Given the description of an element on the screen output the (x, y) to click on. 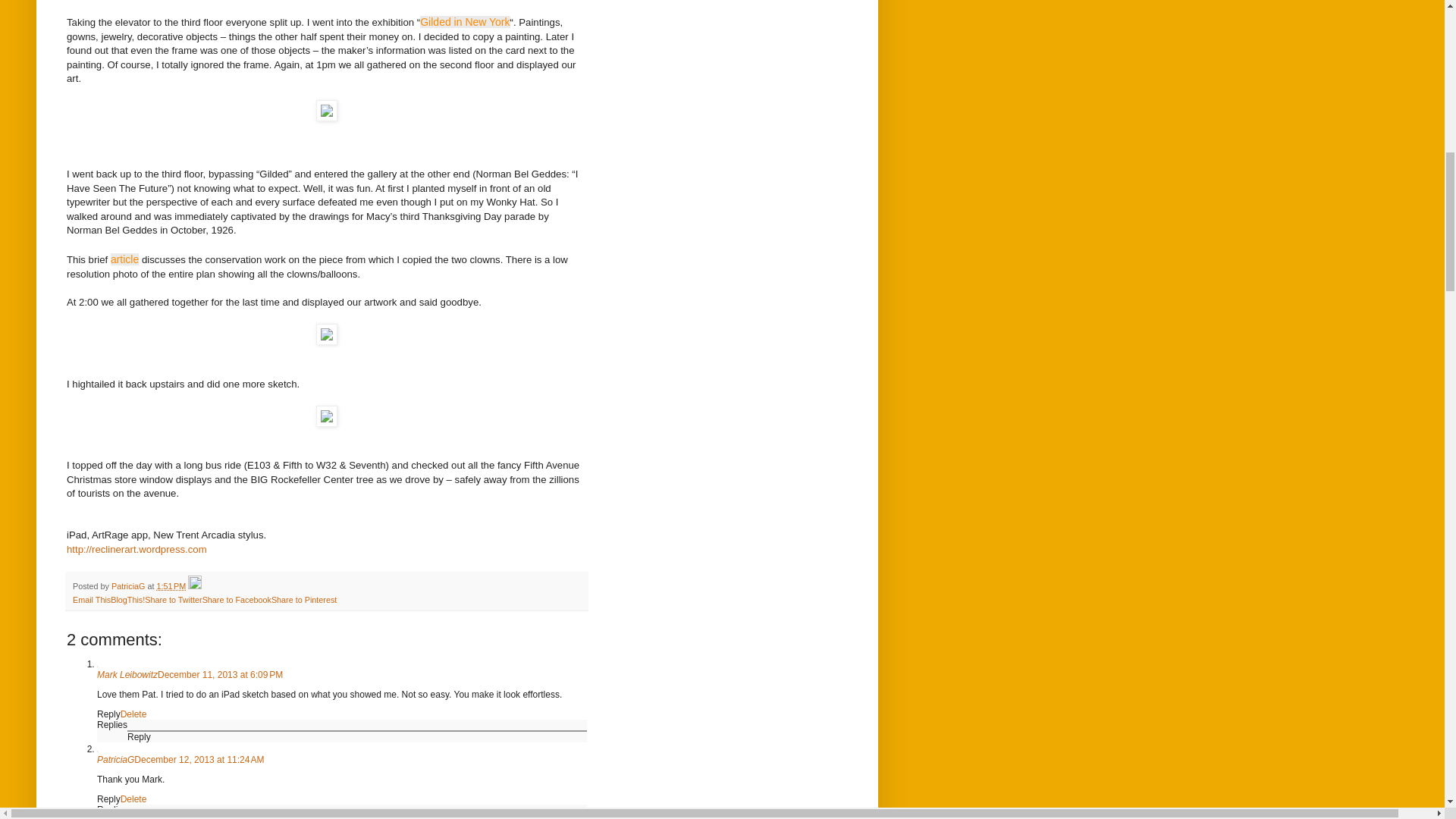
author profile (129, 585)
BlogThis! (127, 599)
Email This (91, 599)
Reply (108, 798)
Share to Facebook (236, 599)
Email This (91, 599)
Share to Pinterest (303, 599)
Reply (108, 714)
Delete (133, 714)
Reply (139, 817)
Share to Twitter (173, 599)
PatriciaG (129, 585)
BlogThis! (127, 599)
